Given the description of an element on the screen output the (x, y) to click on. 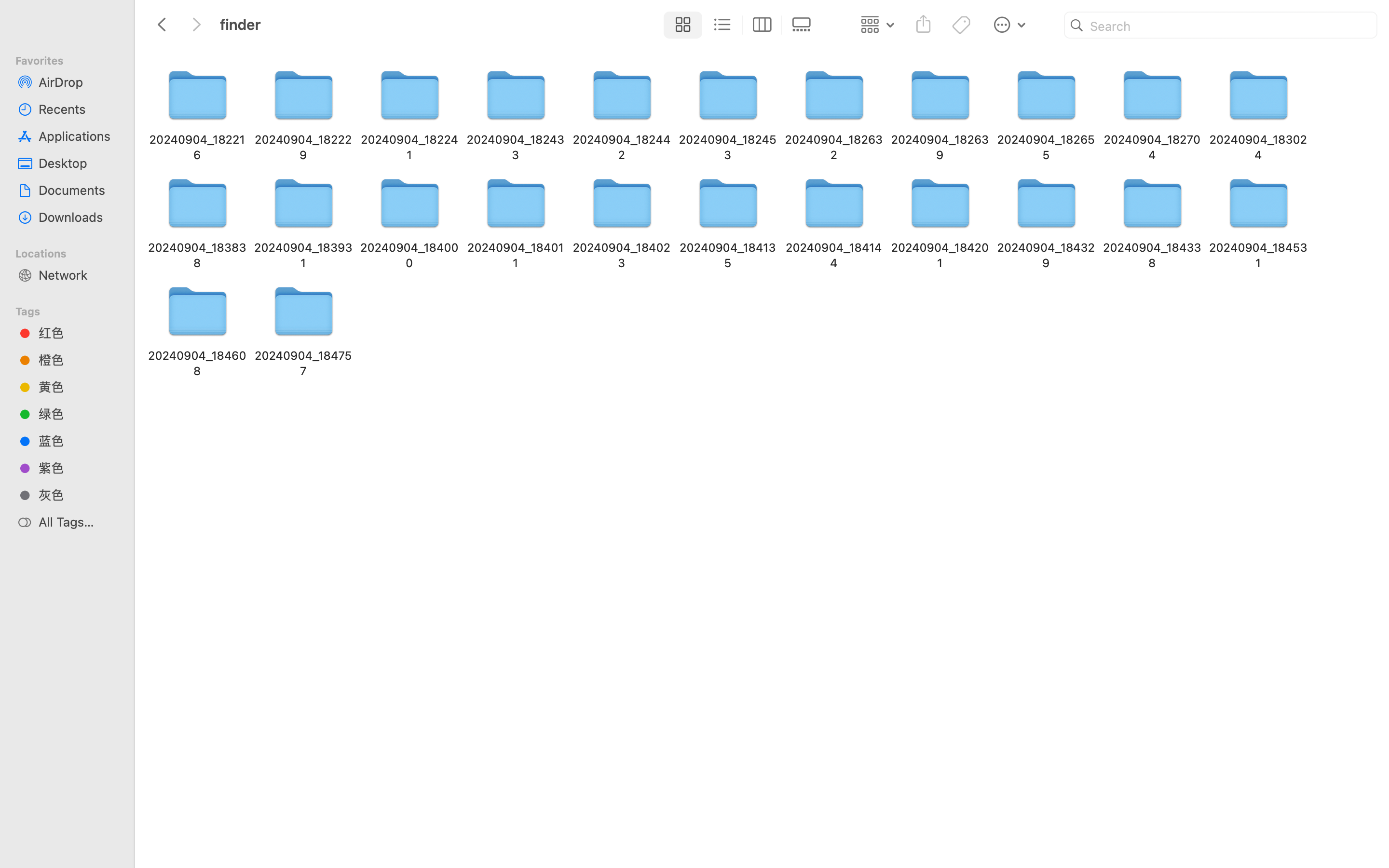
<AXUIElement 0x11d8248f0> {pid=510} Element type: AXRadioGroup (741, 24)
AirDrop Element type: AXStaticText (77, 81)
0 Element type: AXRadioButton (804, 24)
Documents Element type: AXStaticText (77, 189)
绿色 Element type: AXStaticText (77, 413)
